Given the description of an element on the screen output the (x, y) to click on. 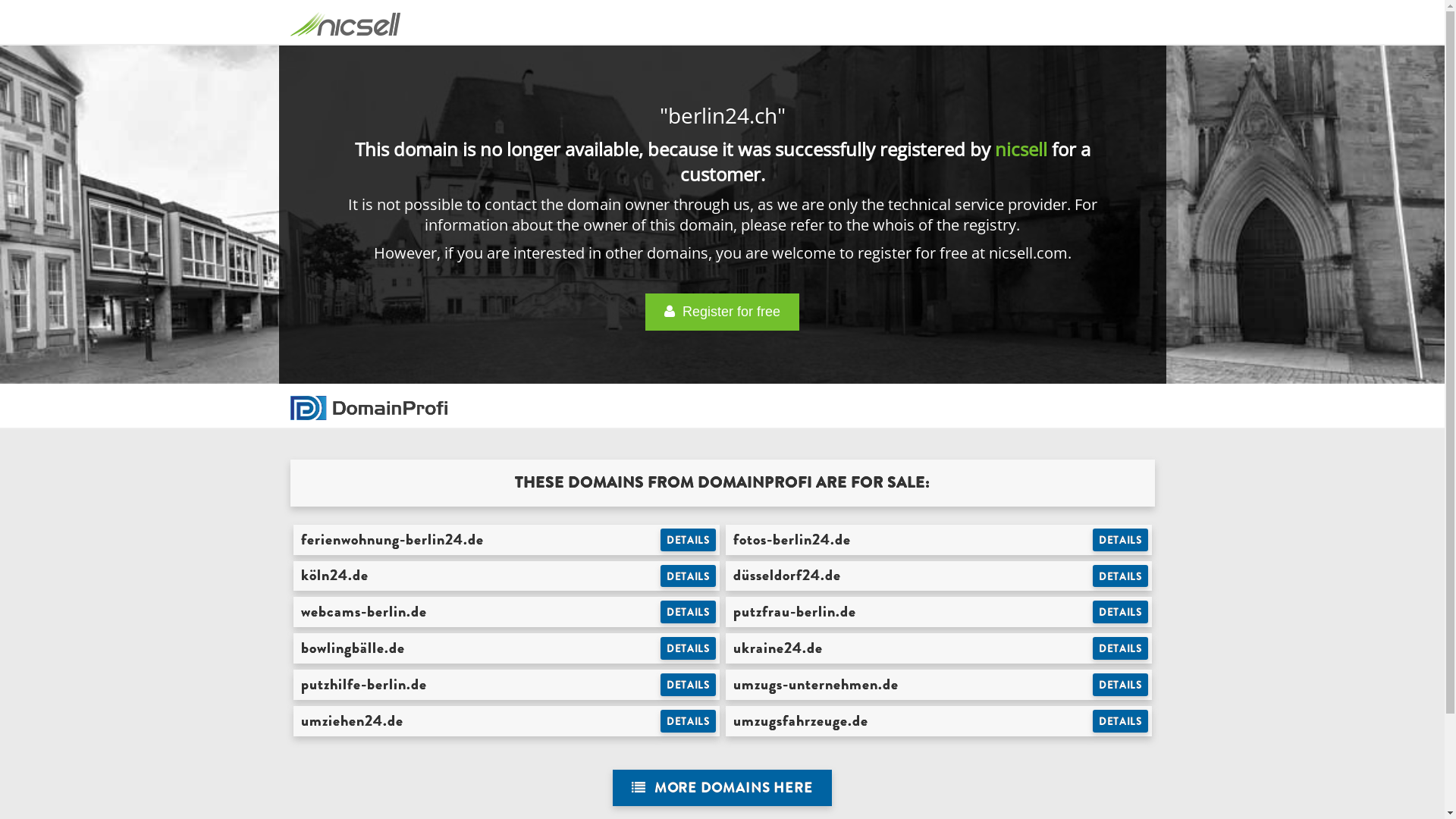
DETAILS Element type: text (1120, 539)
DETAILS Element type: text (1120, 684)
DETAILS Element type: text (687, 684)
DETAILS Element type: text (687, 611)
  Register for free Element type: text (722, 311)
nicsell Element type: text (1020, 148)
DETAILS Element type: text (1120, 611)
DETAILS Element type: text (687, 575)
DETAILS Element type: text (1120, 648)
DETAILS Element type: text (1120, 720)
  MORE DOMAINS HERE Element type: text (721, 787)
DETAILS Element type: text (687, 720)
DETAILS Element type: text (1120, 575)
DETAILS Element type: text (687, 539)
DETAILS Element type: text (687, 648)
